Given the description of an element on the screen output the (x, y) to click on. 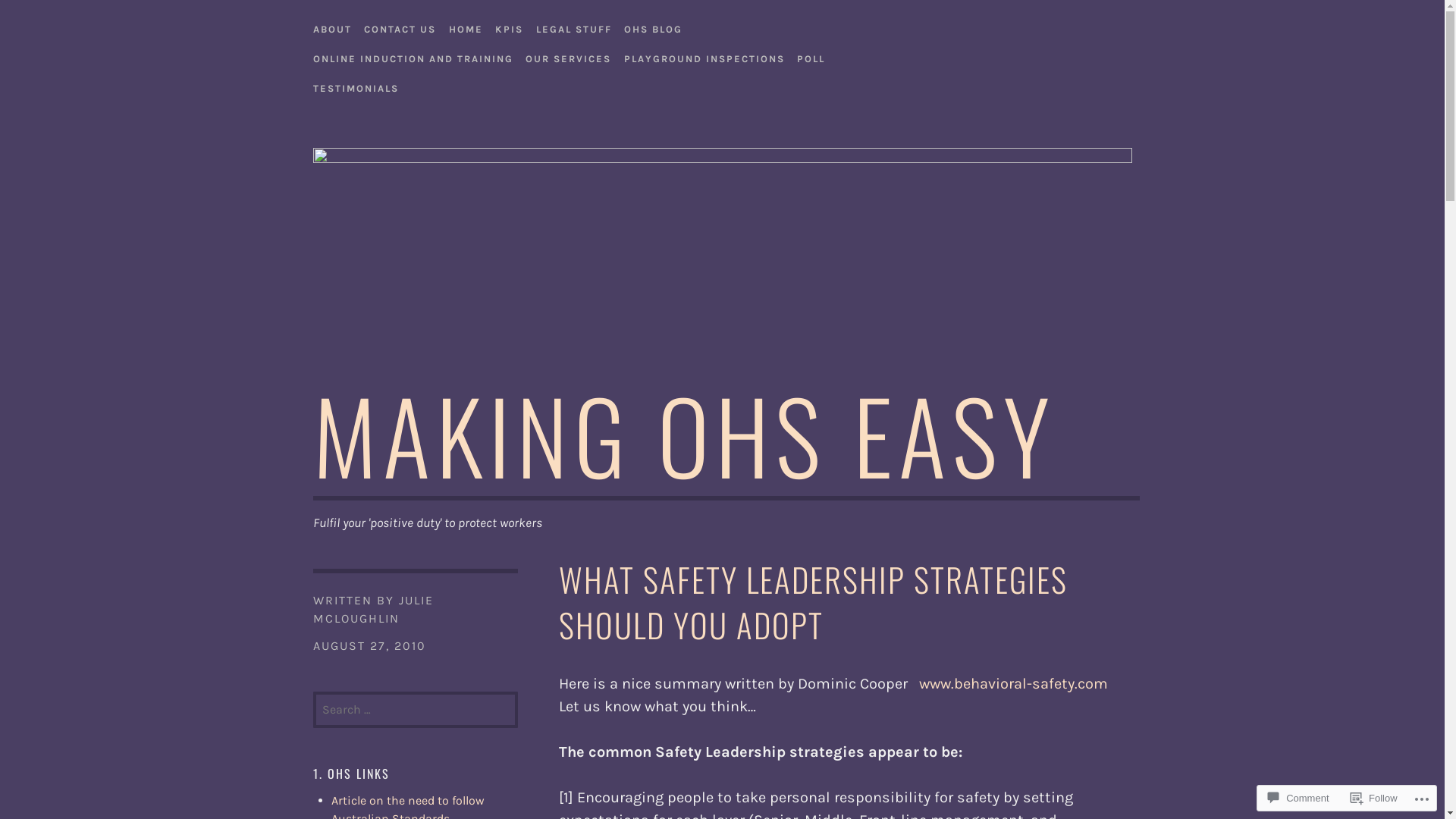
Follow Element type: text (1373, 797)
AUGUST 27, 2010 Element type: text (368, 645)
PLAYGROUND INSPECTIONS Element type: text (703, 54)
POLL Element type: text (811, 54)
OUR SERVICES Element type: text (568, 54)
CONTACT US Element type: text (400, 26)
ABOUT Element type: text (331, 26)
HOME Element type: text (465, 26)
Search Element type: text (48, 18)
LEGAL STUFF Element type: text (573, 26)
TESTIMONIALS Element type: text (355, 85)
MAKING OHS EASY Element type: text (683, 433)
Comment Element type: text (1297, 797)
ONLINE INDUCTION AND TRAINING Element type: text (412, 54)
KPIS Element type: text (509, 26)
JULIE MCLOUGHLIN Element type: text (372, 609)
OHS BLOG Element type: text (653, 26)
www.behavioral-safety.com Element type: text (1013, 683)
